Given the description of an element on the screen output the (x, y) to click on. 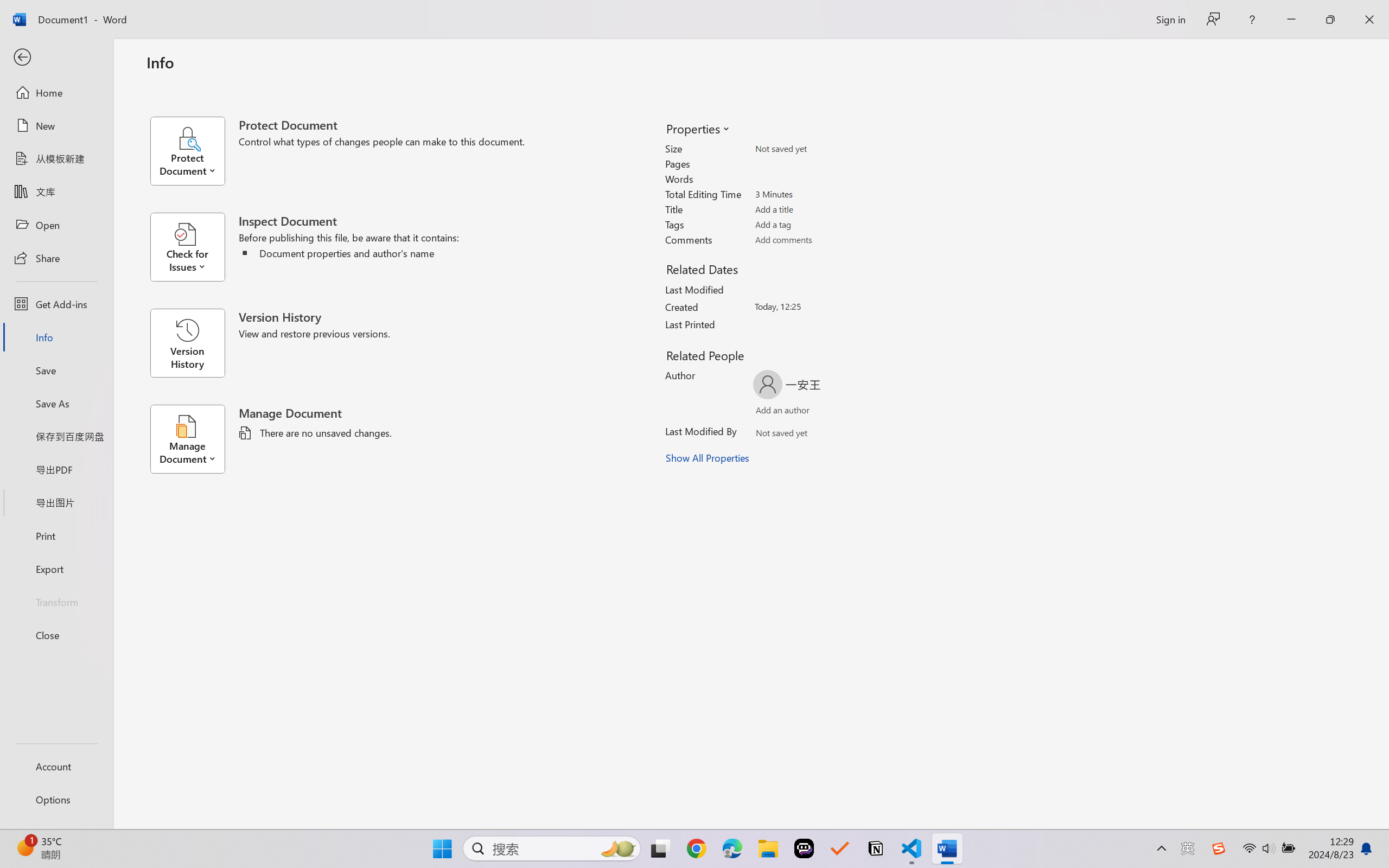
Not saved yet (772, 434)
Properties (696, 128)
Export (56, 568)
Protect Document (194, 150)
Info (56, 337)
Back (56, 57)
Transform (56, 601)
